Given the description of an element on the screen output the (x, y) to click on. 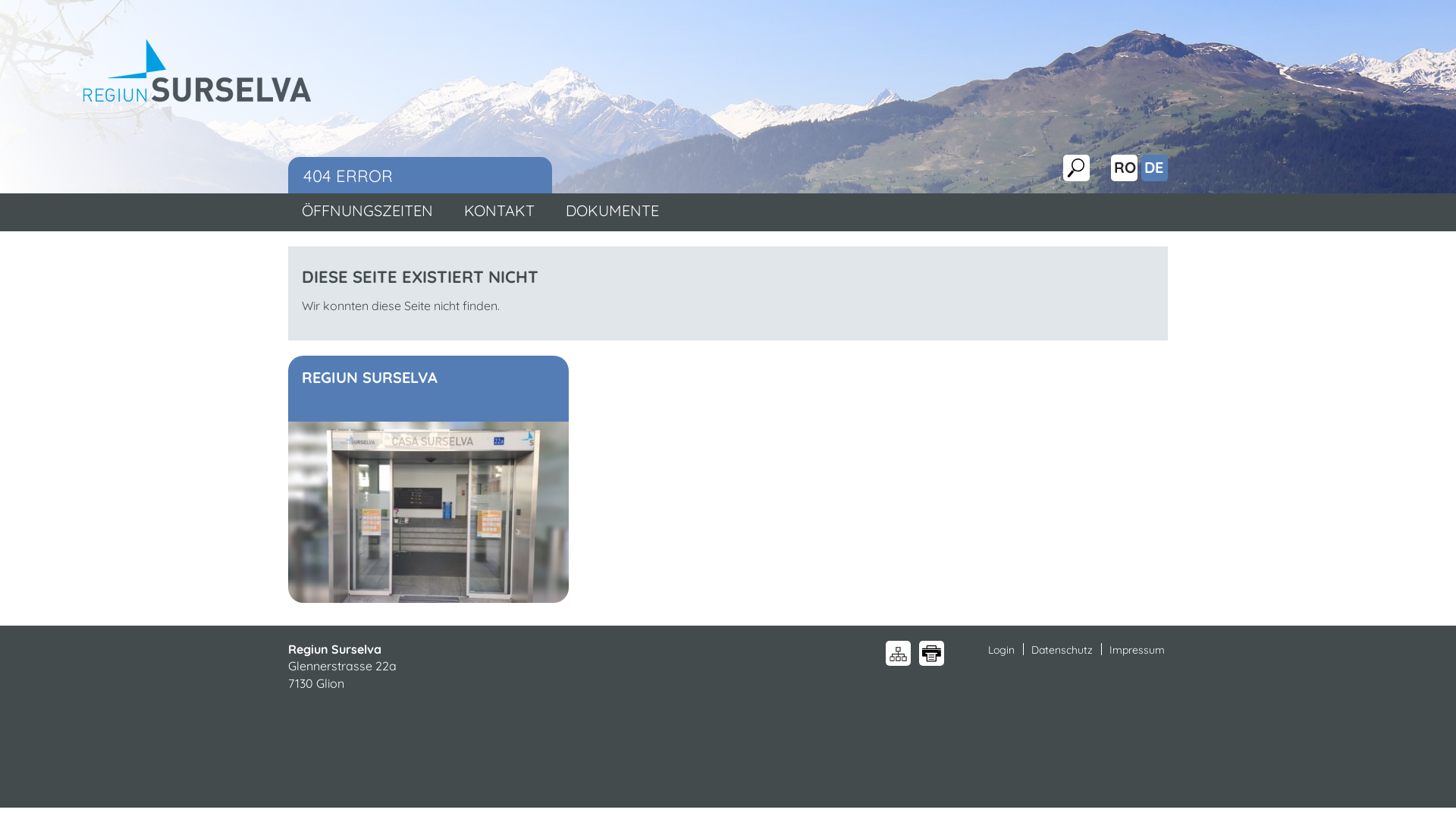
RO Element type: text (1124, 166)
Drucken Element type: hover (931, 652)
DOKUMENTE Element type: text (612, 210)
REGIUN SURSELVA Element type: text (428, 388)
404 ERROR Element type: text (420, 175)
Login Element type: text (998, 649)
Datenschutz Element type: text (1059, 649)
KONTAKT Element type: text (499, 210)
DE Element type: text (1153, 166)
Impressum Element type: text (1134, 649)
